Given the description of an element on the screen output the (x, y) to click on. 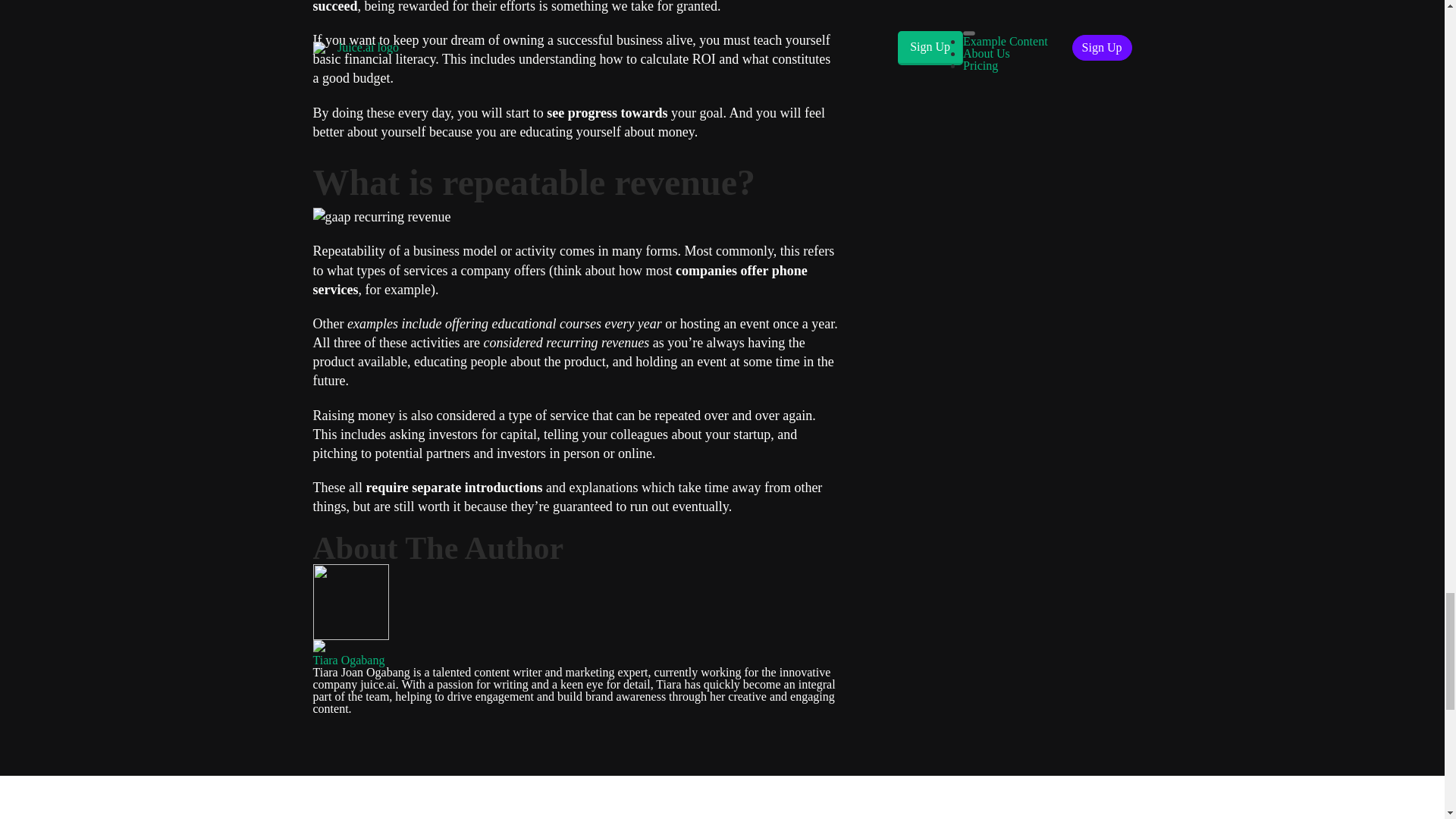
Tiara Ogabang (348, 660)
